Given the description of an element on the screen output the (x, y) to click on. 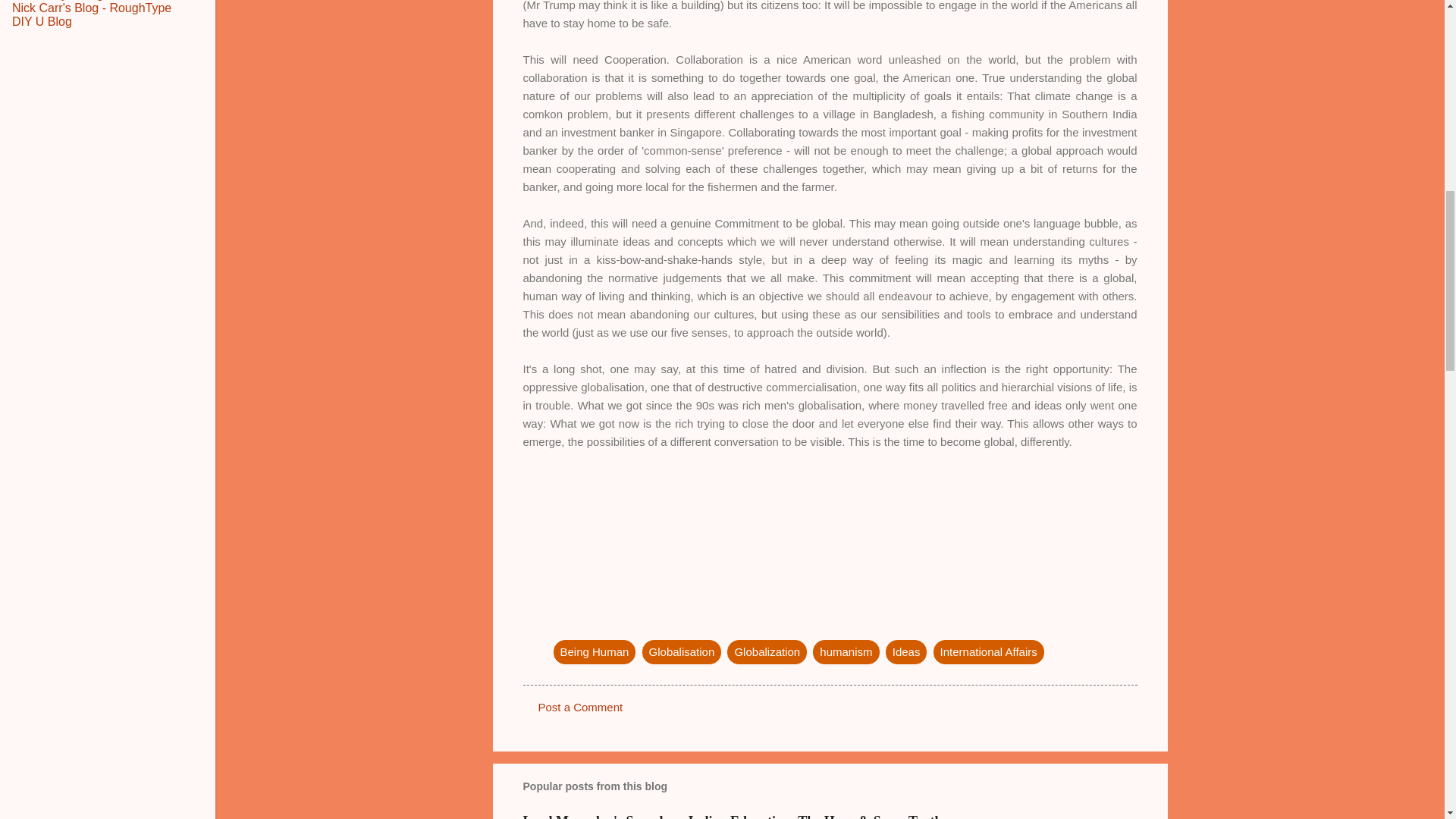
Post a Comment (580, 707)
International Affairs (988, 651)
Globalisation (682, 651)
Ideas (906, 651)
Globalization (766, 651)
Being Human (594, 651)
humanism (845, 651)
Email Post (562, 620)
